Given the description of an element on the screen output the (x, y) to click on. 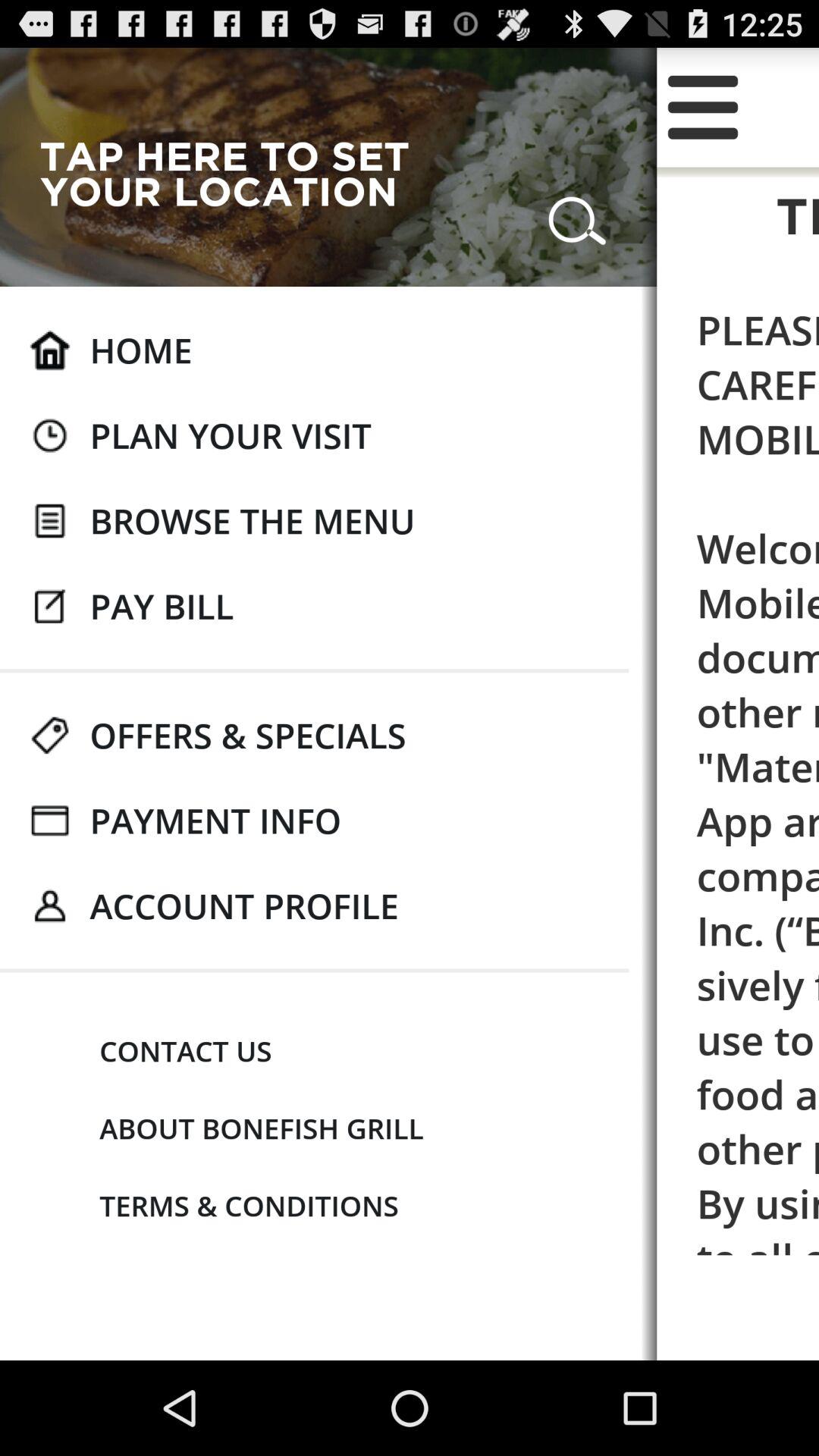
select item above payment info (247, 735)
